Given the description of an element on the screen output the (x, y) to click on. 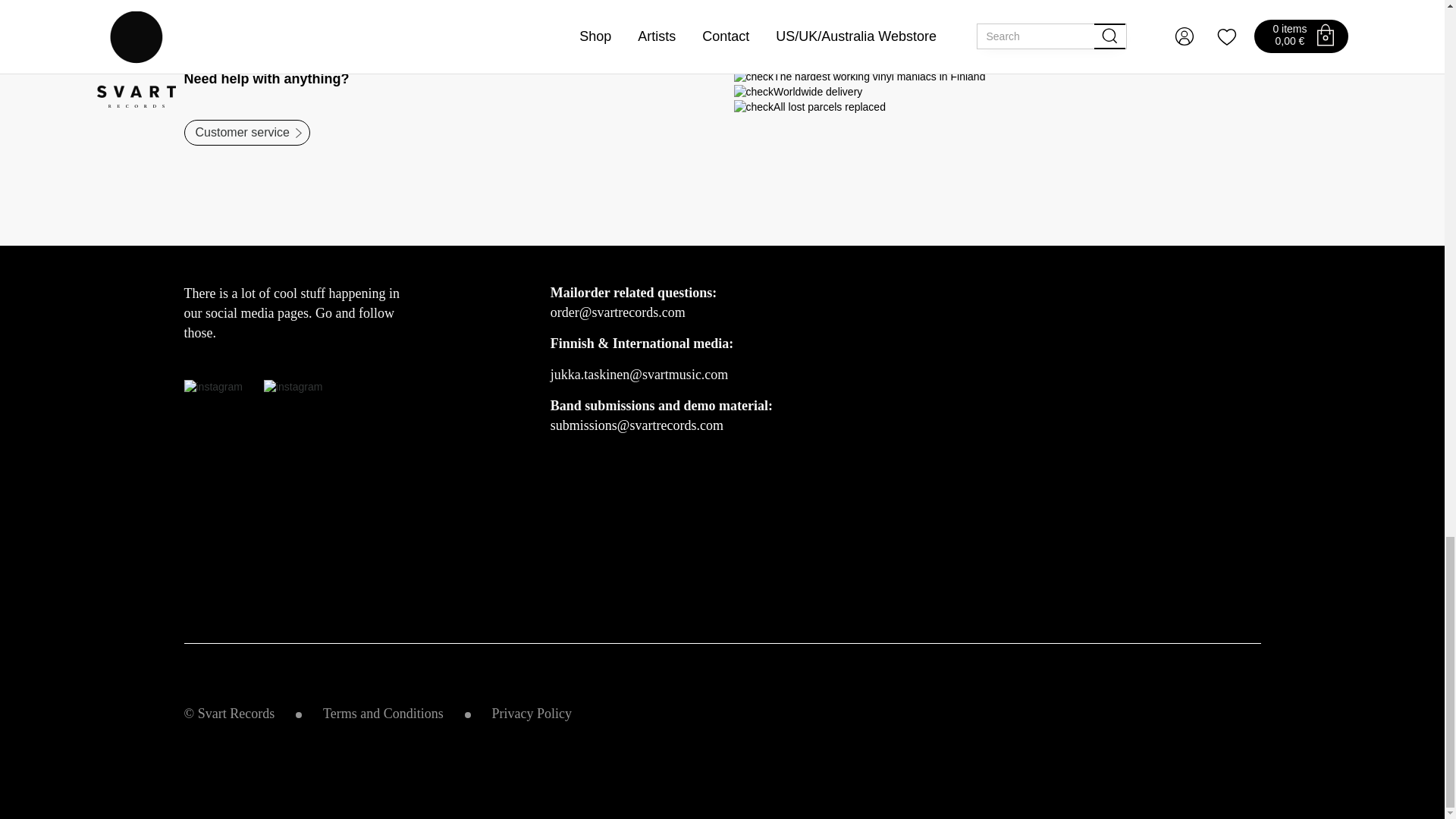
check (753, 77)
check (753, 107)
check (753, 92)
